Given the description of an element on the screen output the (x, y) to click on. 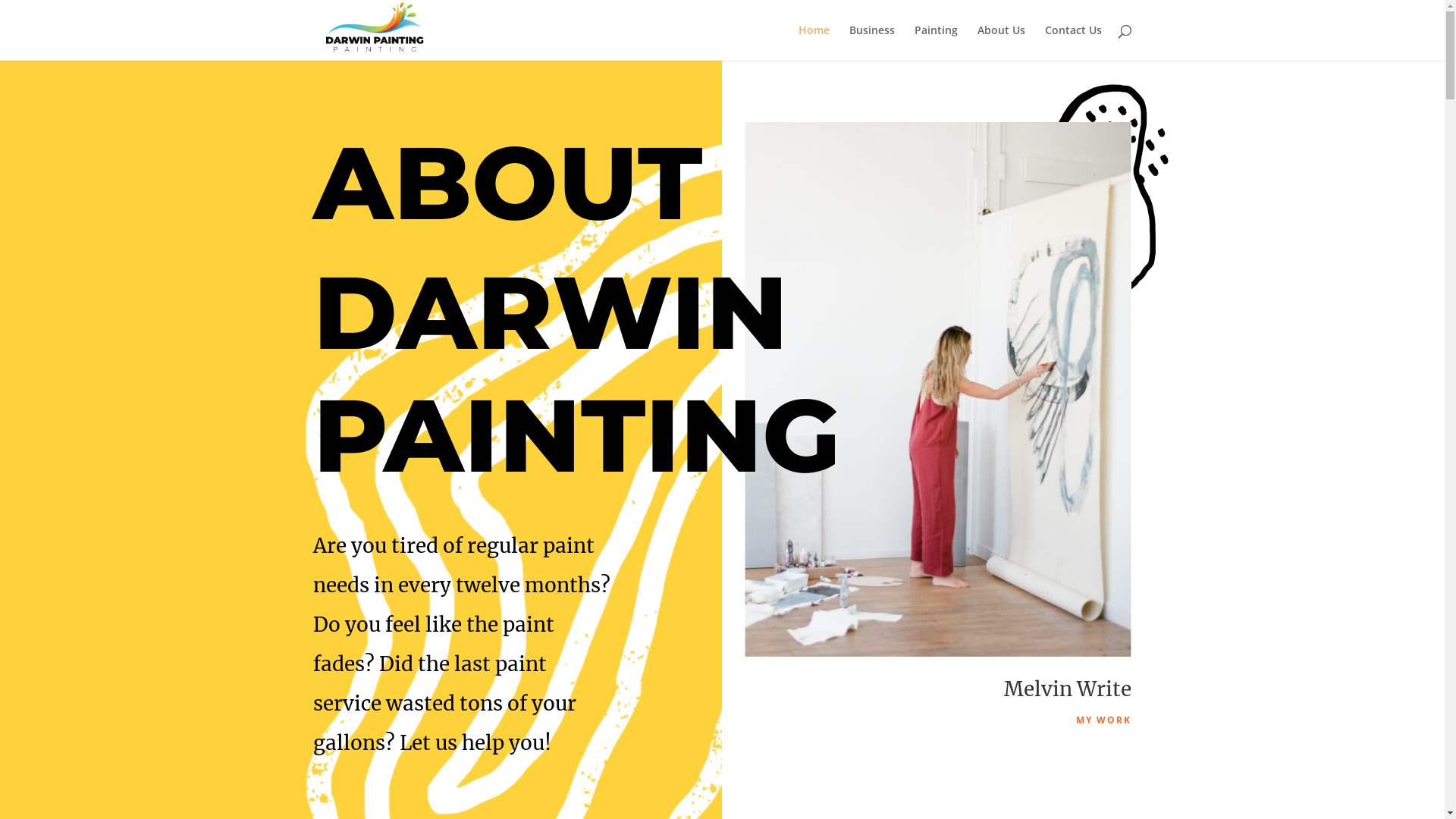
Painting Element type: text (935, 42)
About Us Element type: text (1000, 42)
Painter-artist-66 Element type: hover (937, 389)
Contact Us Element type: text (1072, 42)
Business Element type: text (871, 42)
Home Element type: text (812, 42)
MY WORK Element type: text (1103, 720)
